Given the description of an element on the screen output the (x, y) to click on. 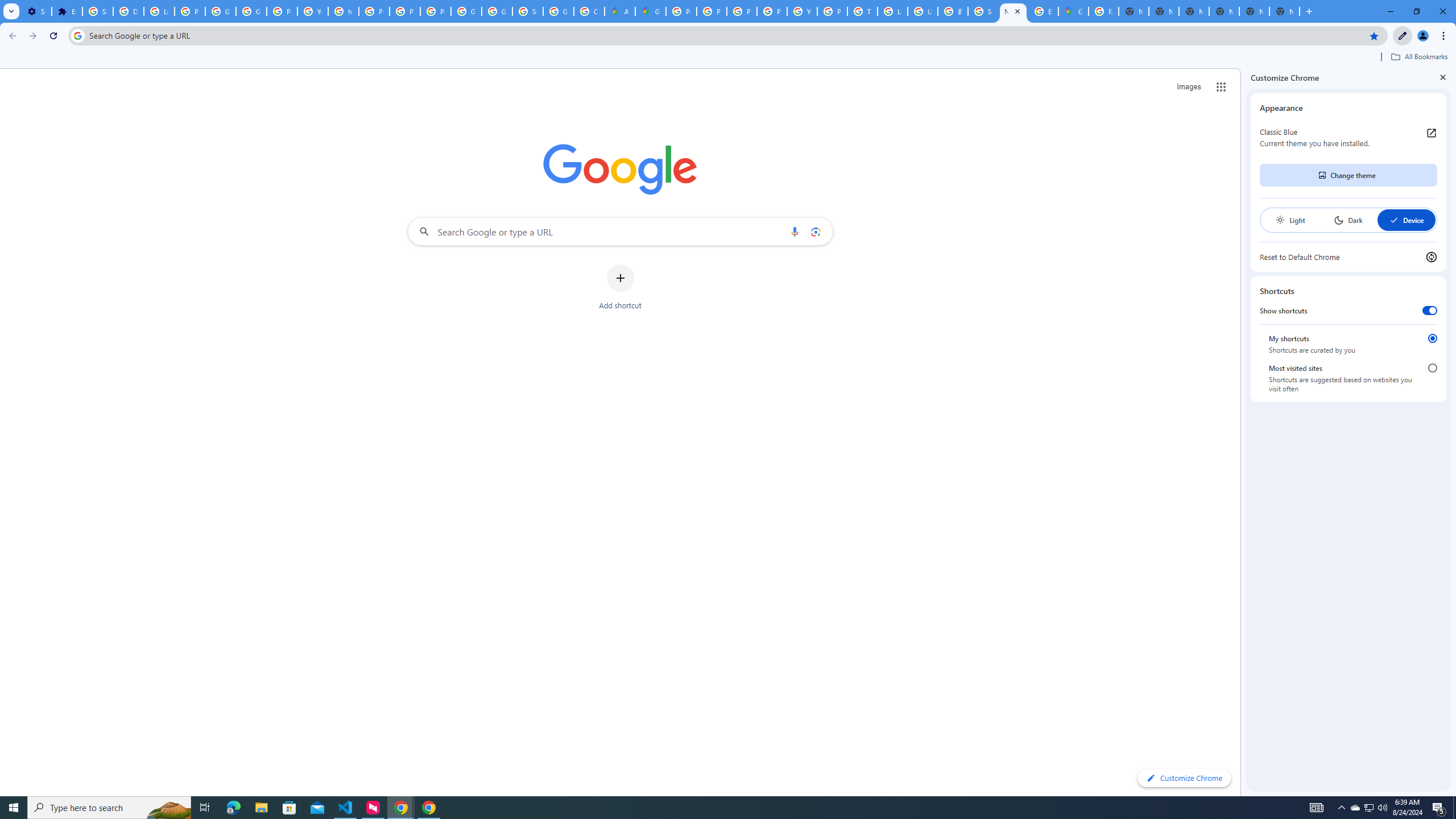
Privacy Help Center - Policies Help (373, 11)
New Tab (1283, 11)
Explore new street-level details - Google Maps Help (1042, 11)
Create your Google Account (589, 11)
Show shortcuts (1429, 310)
Policy Accountability and Transparency - Transparency Center (681, 11)
Sign in - Google Accounts (527, 11)
AutomationID: baseSvg (1394, 219)
